Given the description of an element on the screen output the (x, y) to click on. 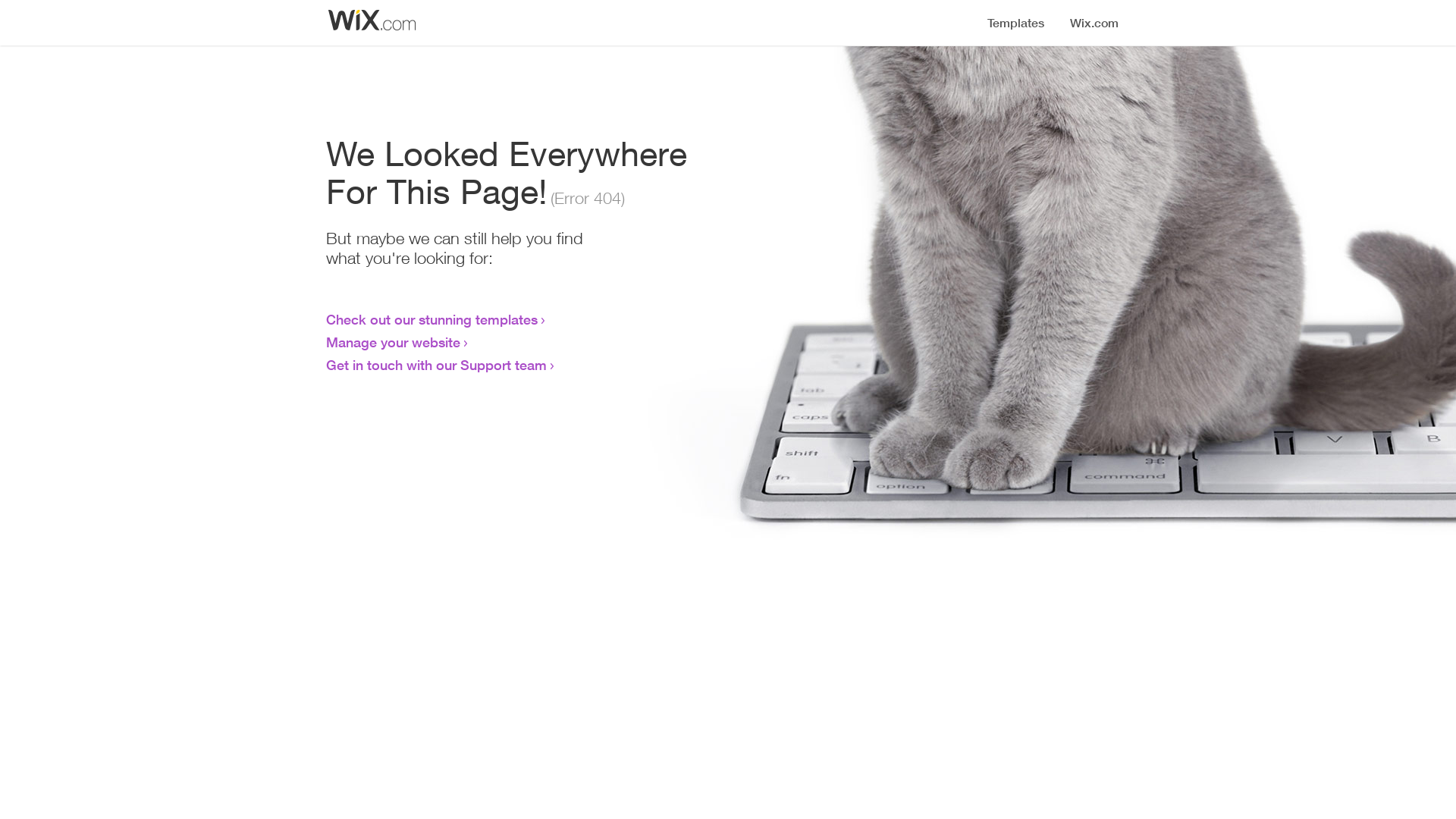
Manage your website Element type: text (393, 341)
Check out our stunning templates Element type: text (431, 318)
Get in touch with our Support team Element type: text (436, 364)
